Given the description of an element on the screen output the (x, y) to click on. 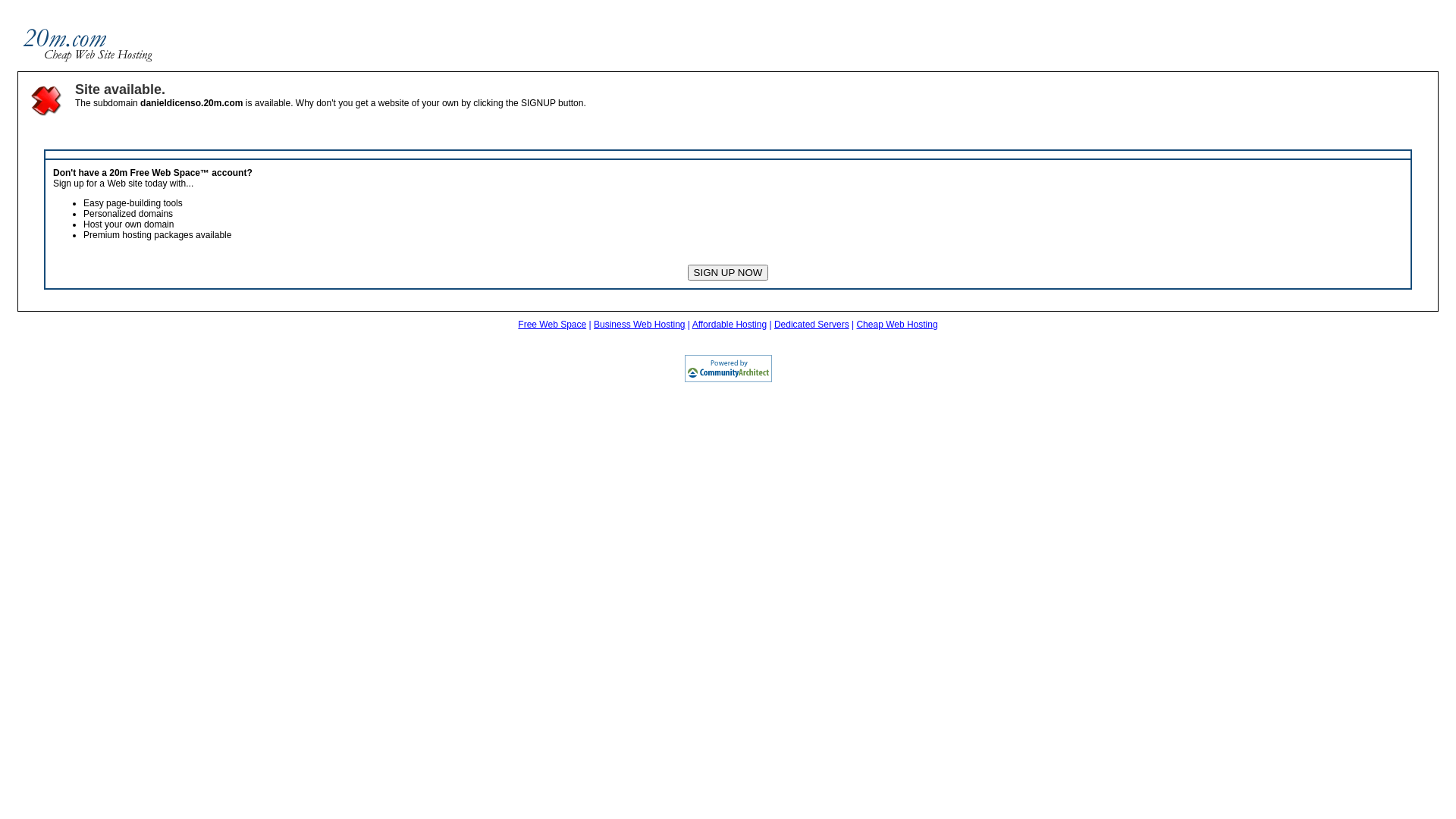
SIGN UP NOW Element type: text (727, 272)
Dedicated Servers Element type: text (811, 324)
Business Web Hosting Element type: text (639, 324)
Cheap Web Hosting Element type: text (896, 324)
Affordable Hosting Element type: text (729, 324)
Free Web Space Element type: text (551, 324)
